Given the description of an element on the screen output the (x, y) to click on. 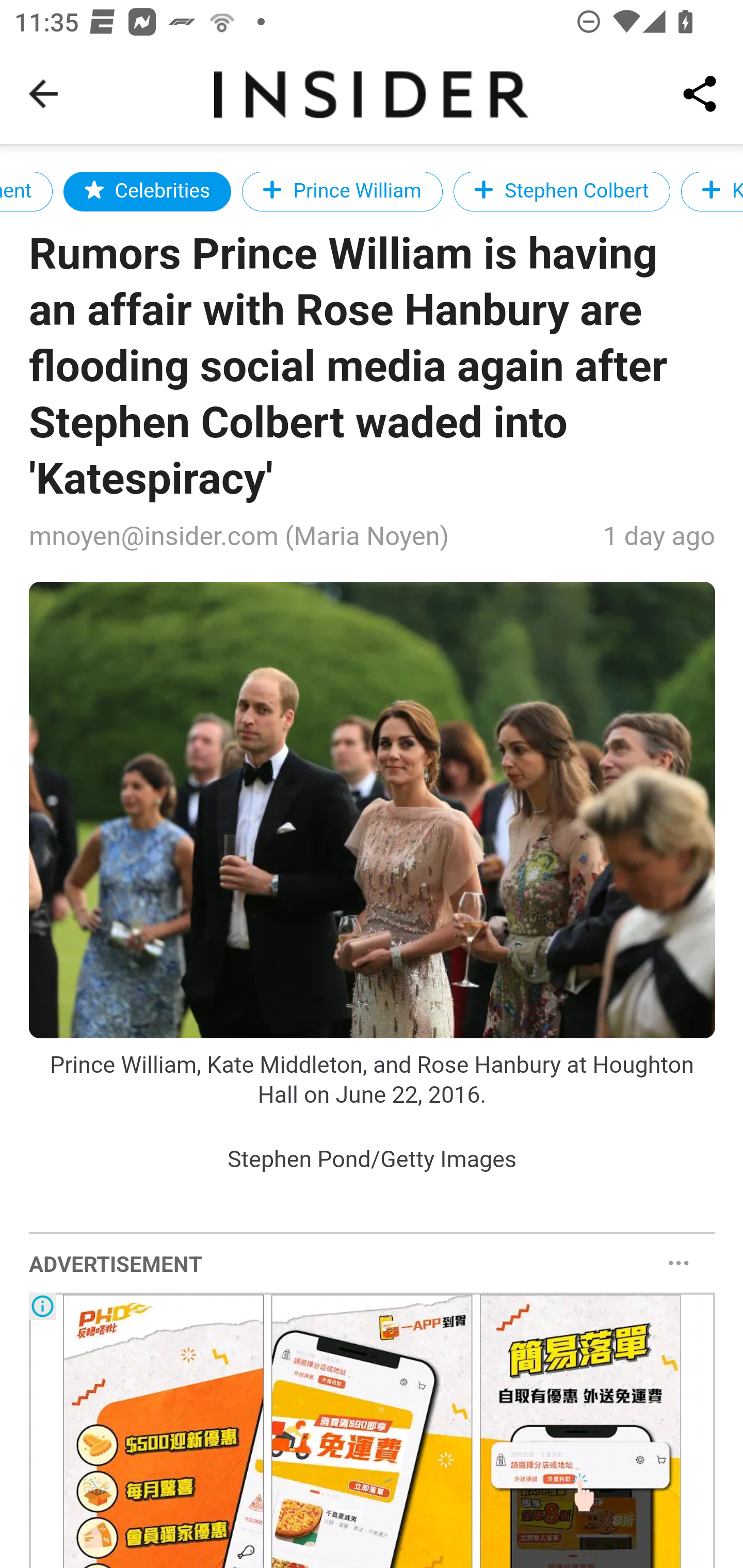
Celebrities (147, 191)
Prince William (343, 191)
Stephen Colbert (561, 191)
?url=https%3A%2F%2Fi.insider (372, 810)
